Given the description of an element on the screen output the (x, y) to click on. 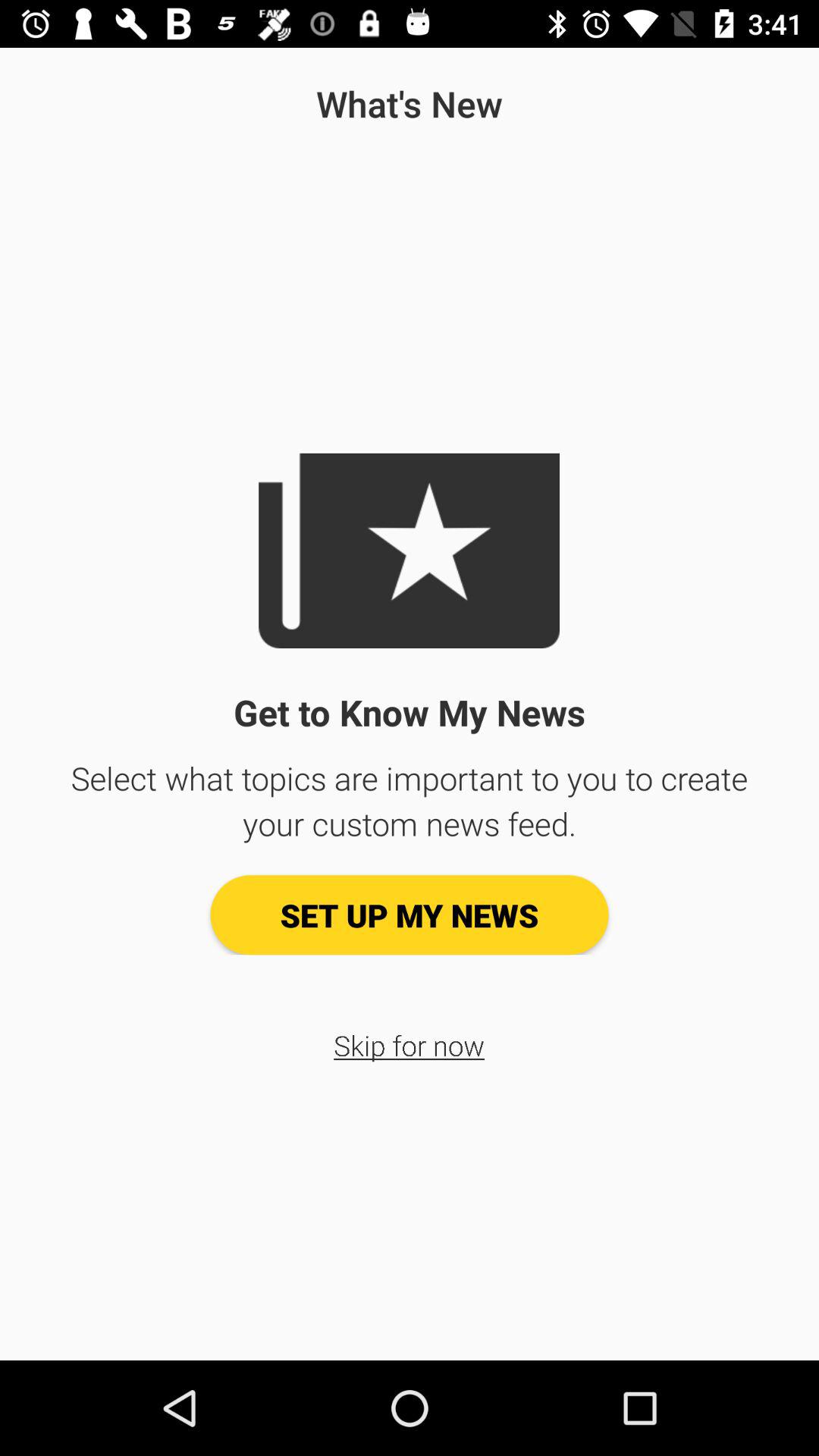
turn off icon above the skip for now (409, 914)
